Given the description of an element on the screen output the (x, y) to click on. 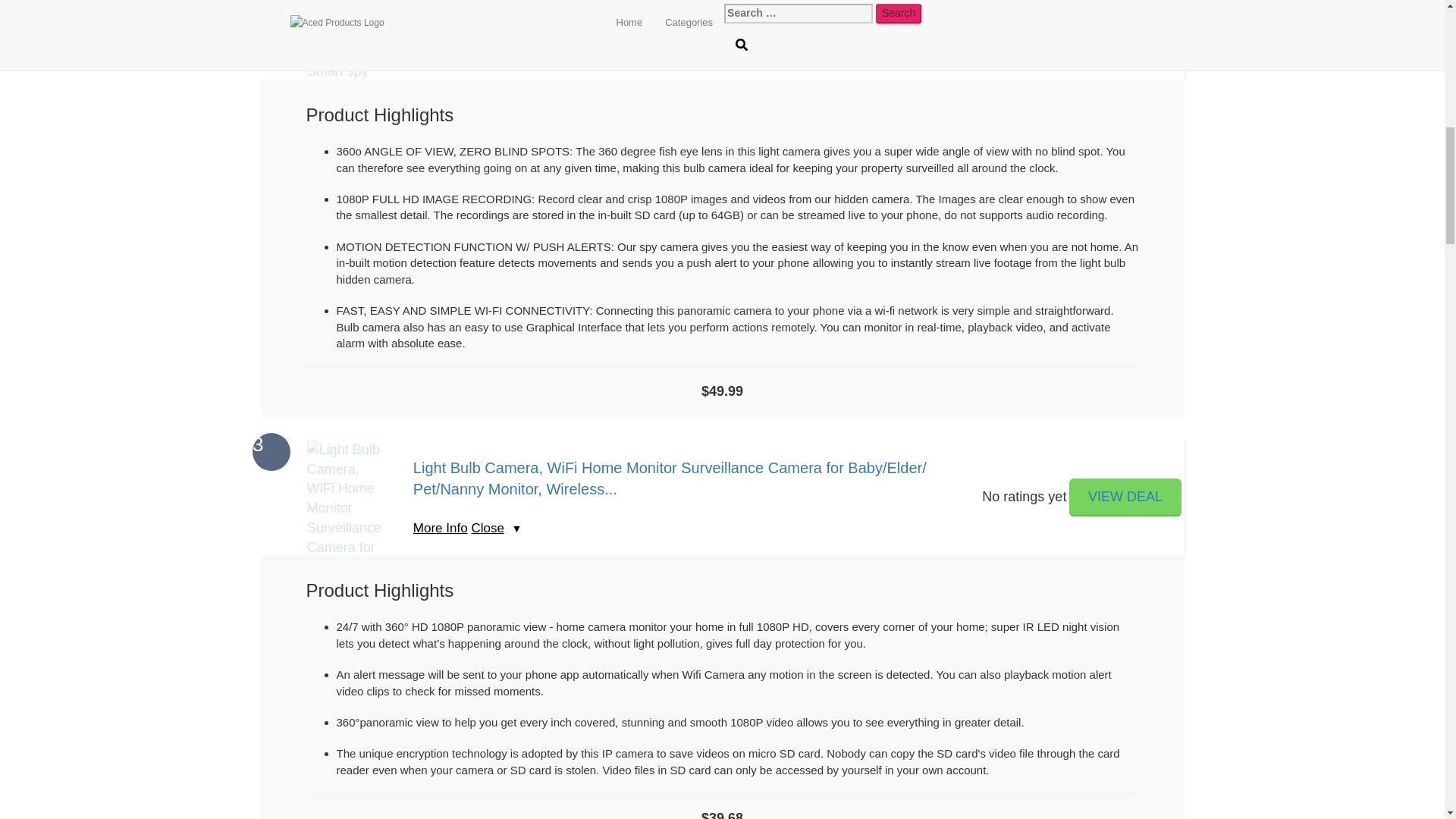
VIEW DEAL (1124, 497)
VIEW DEAL (1124, 497)
VIEW DEAL (1124, 21)
VIEW DEAL (1124, 21)
